Given the description of an element on the screen output the (x, y) to click on. 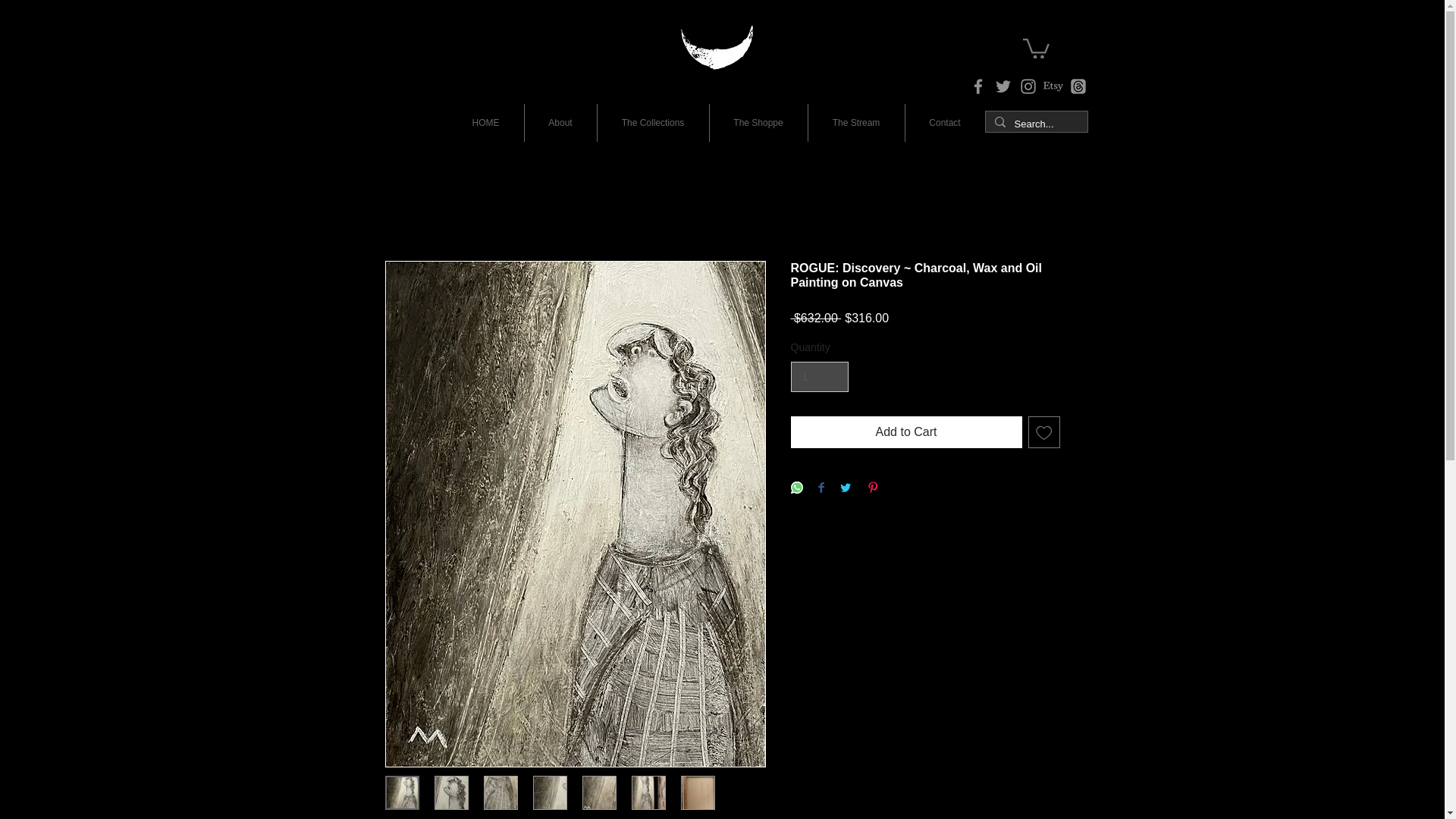
The Shoppe (759, 122)
The Collections (652, 122)
HOME (484, 122)
Add to Cart (906, 431)
1 (818, 377)
About (560, 122)
The Stream (856, 122)
Contact (945, 122)
